Given the description of an element on the screen output the (x, y) to click on. 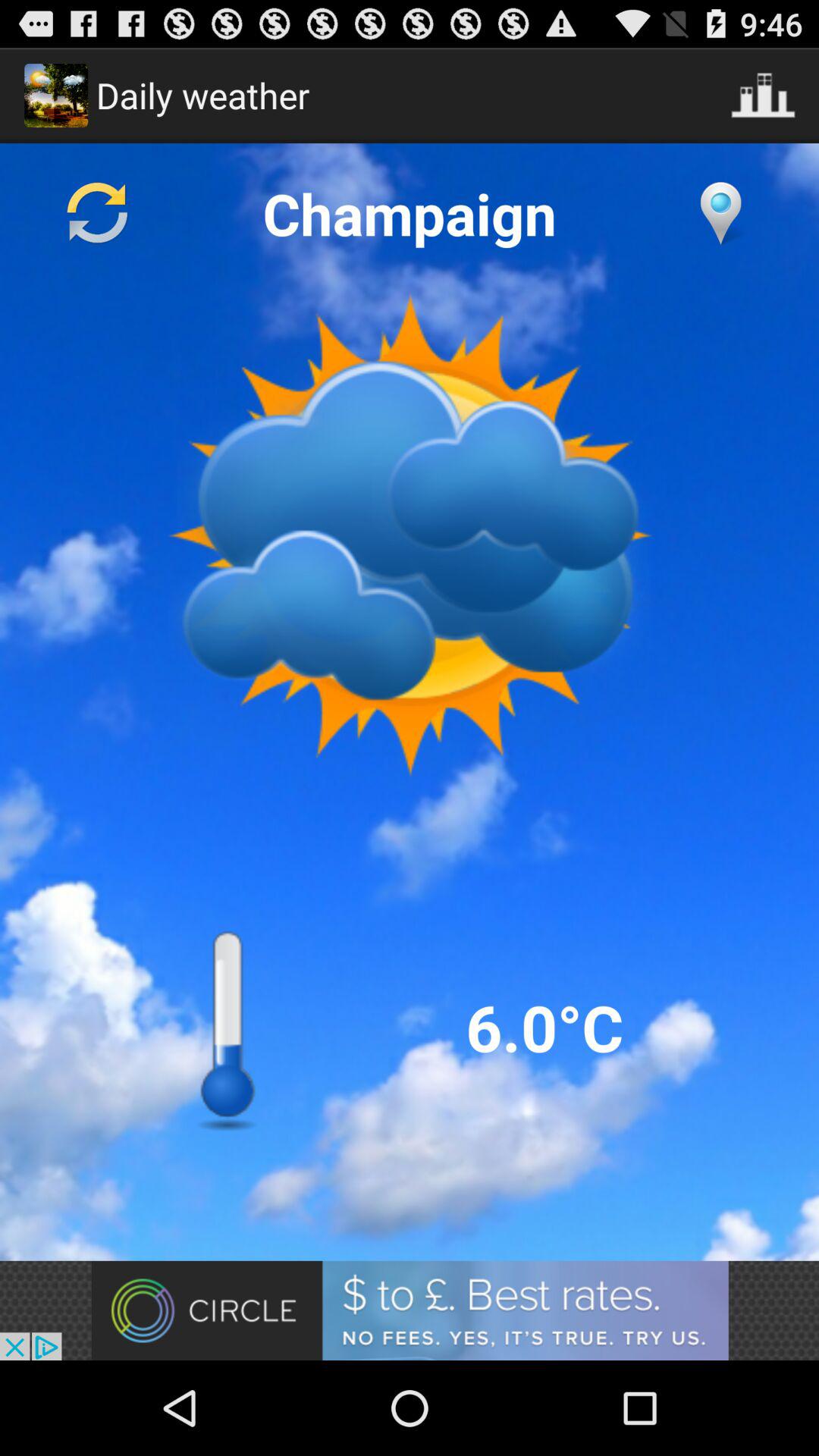
go to advertisement (409, 1310)
